Given the description of an element on the screen output the (x, y) to click on. 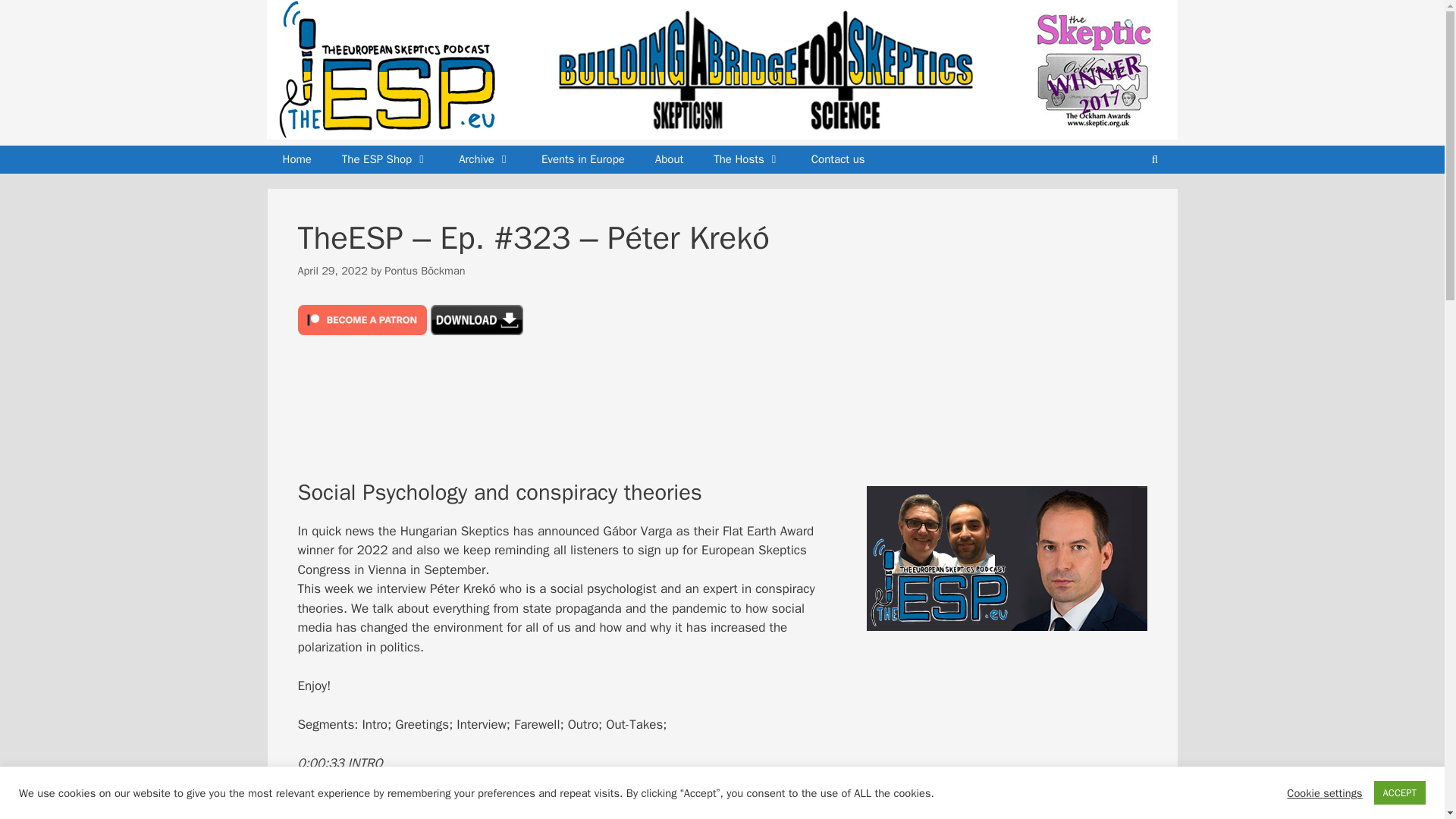
Home (296, 159)
Contact us! (838, 159)
Become a patron! (361, 319)
About TheESP (669, 159)
The ESP Shop (385, 159)
Skeptic Events in Europe (582, 159)
Download (476, 319)
